Given the description of an element on the screen output the (x, y) to click on. 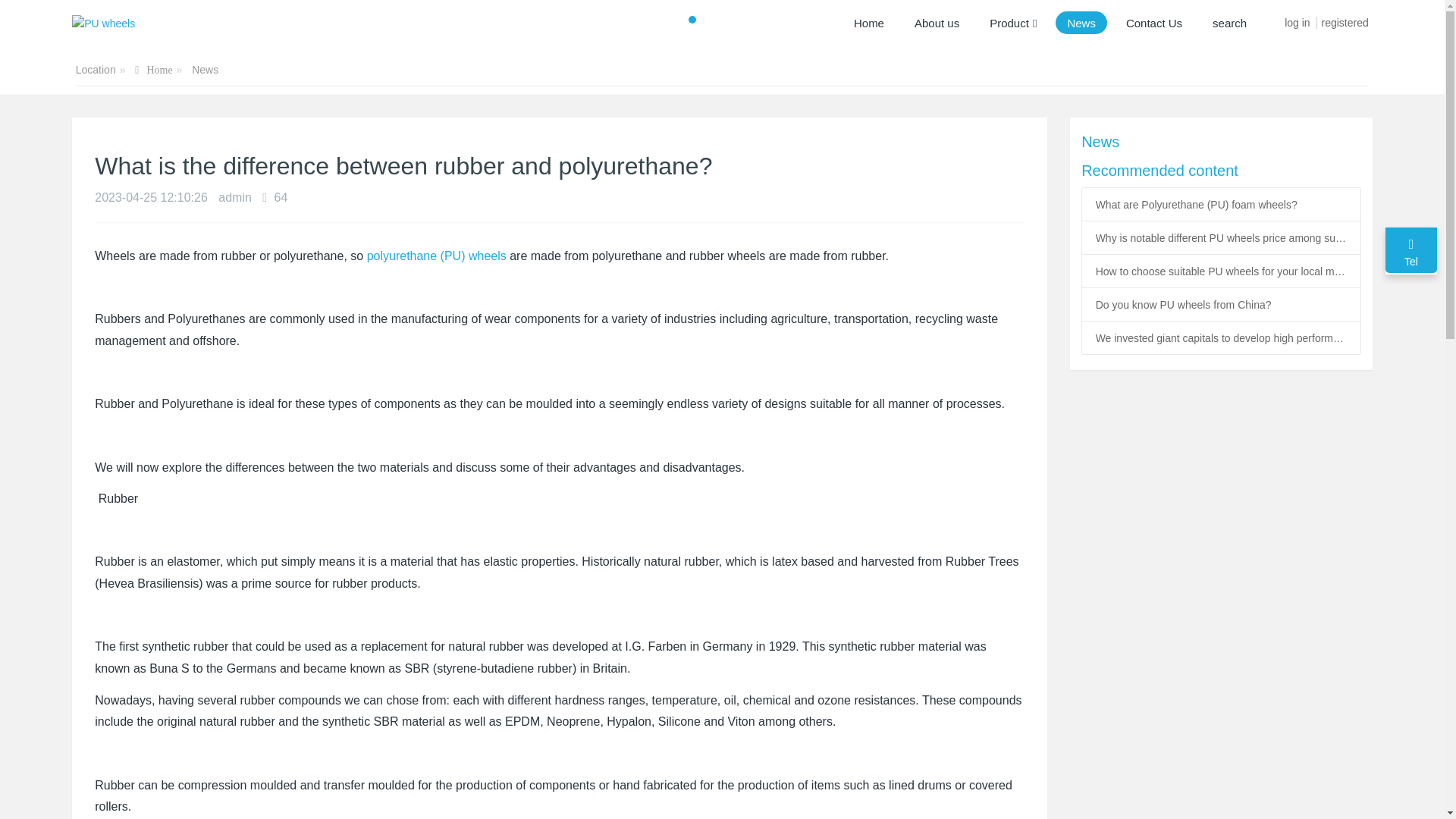
Home (153, 70)
Do you know PU wheels from China? (1222, 303)
registered (1343, 18)
About us (936, 22)
News (205, 69)
Product (1013, 22)
News (1080, 22)
Home (869, 22)
search (1229, 22)
How to choose suitable PU wheels for your local market? (1222, 270)
Contact Us (1154, 22)
Product (1013, 22)
Contact Us (1154, 22)
News (1221, 141)
Home (153, 70)
